Given the description of an element on the screen output the (x, y) to click on. 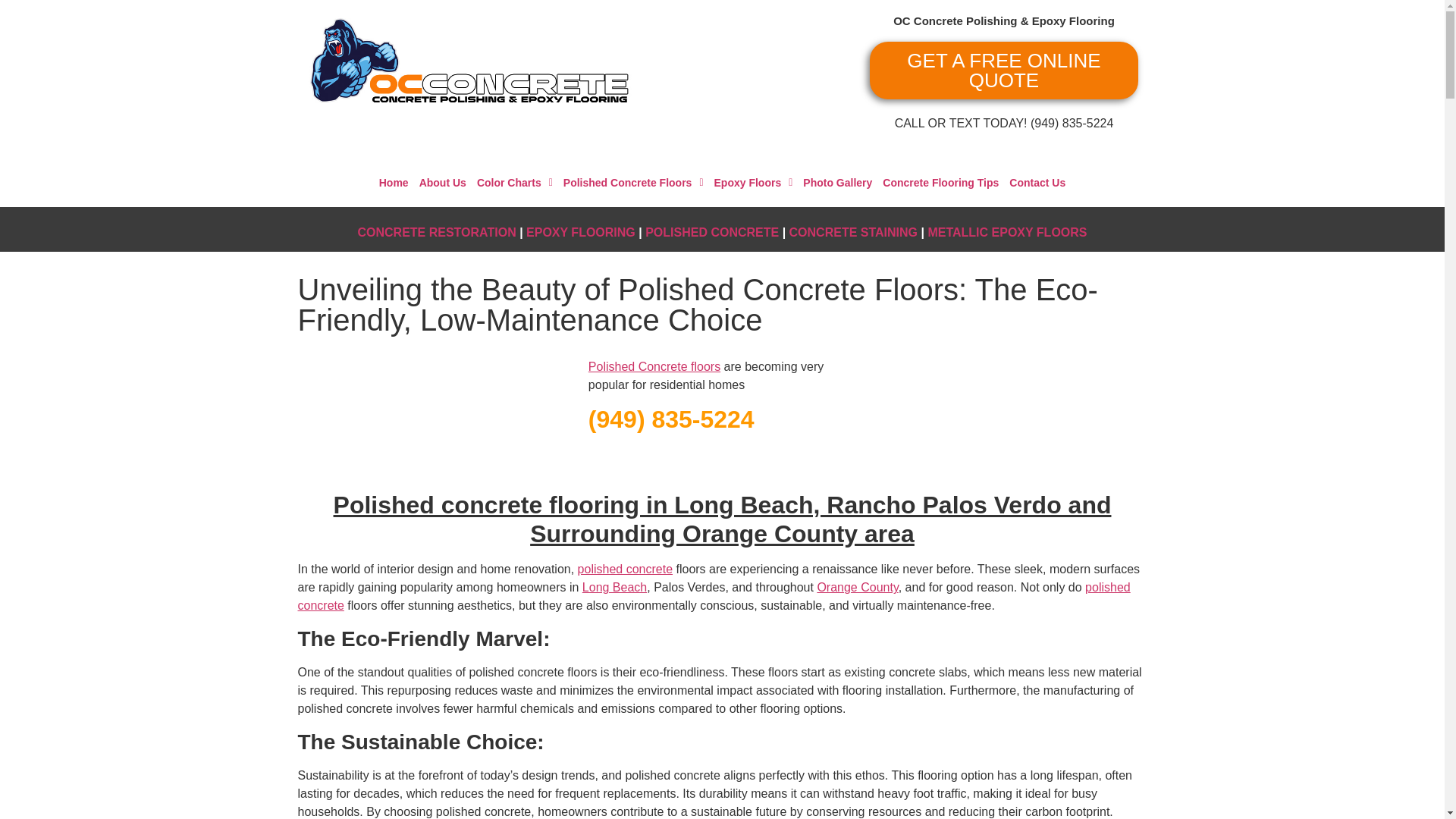
EPOXY FLOORING (579, 232)
About Us (442, 182)
Color Charts (514, 182)
Polished Concrete Floors (633, 182)
Concrete Flooring Tips (940, 182)
Contact Us (1037, 182)
POLISHED CONCRETE (711, 232)
Home (393, 182)
Epoxy Floors (753, 182)
Photo Gallery (837, 182)
